Given the description of an element on the screen output the (x, y) to click on. 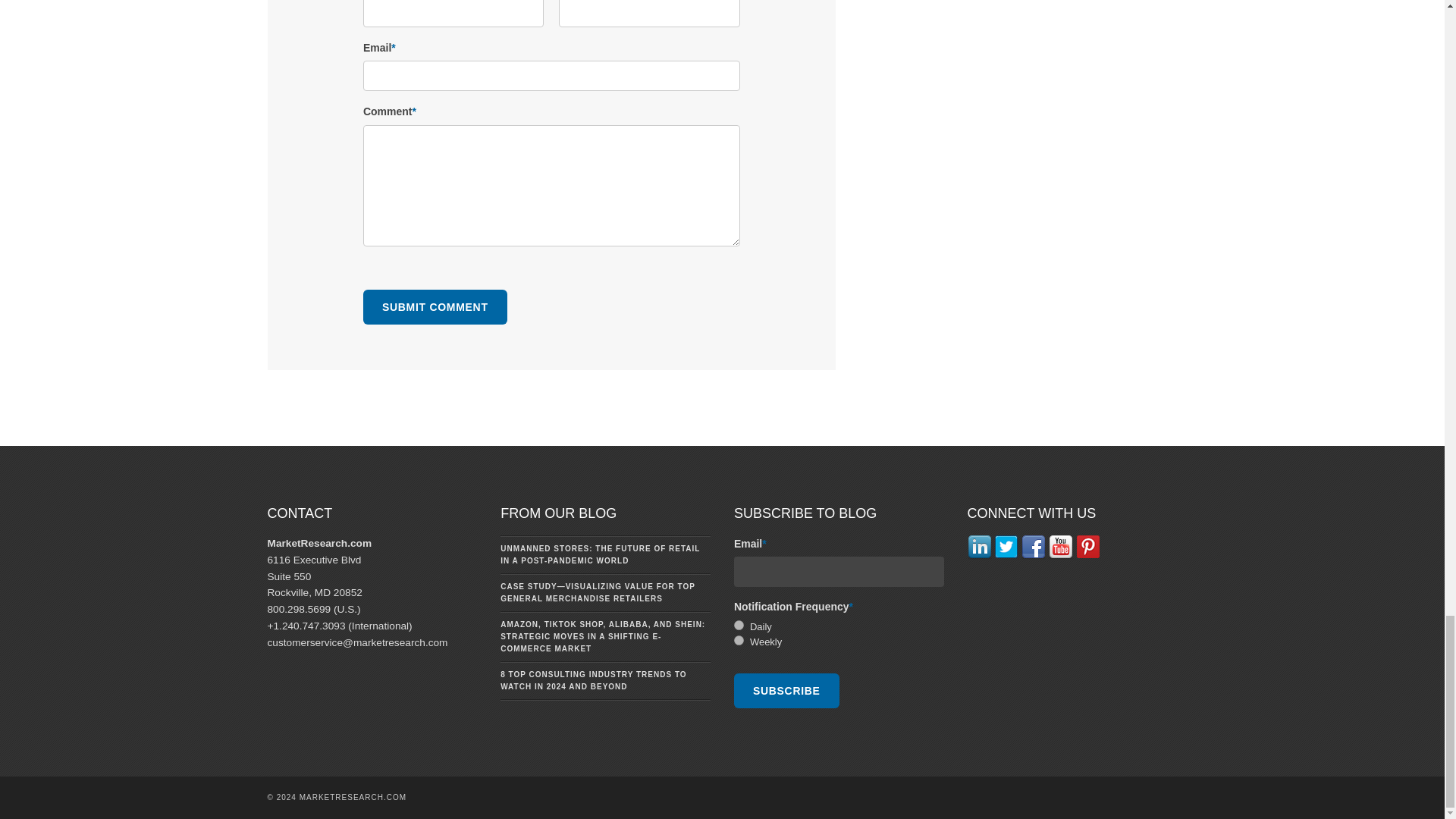
daily (738, 624)
weekly (738, 640)
Submit Comment (434, 306)
Subscribe (786, 690)
Submit Comment (434, 306)
